Given the description of an element on the screen output the (x, y) to click on. 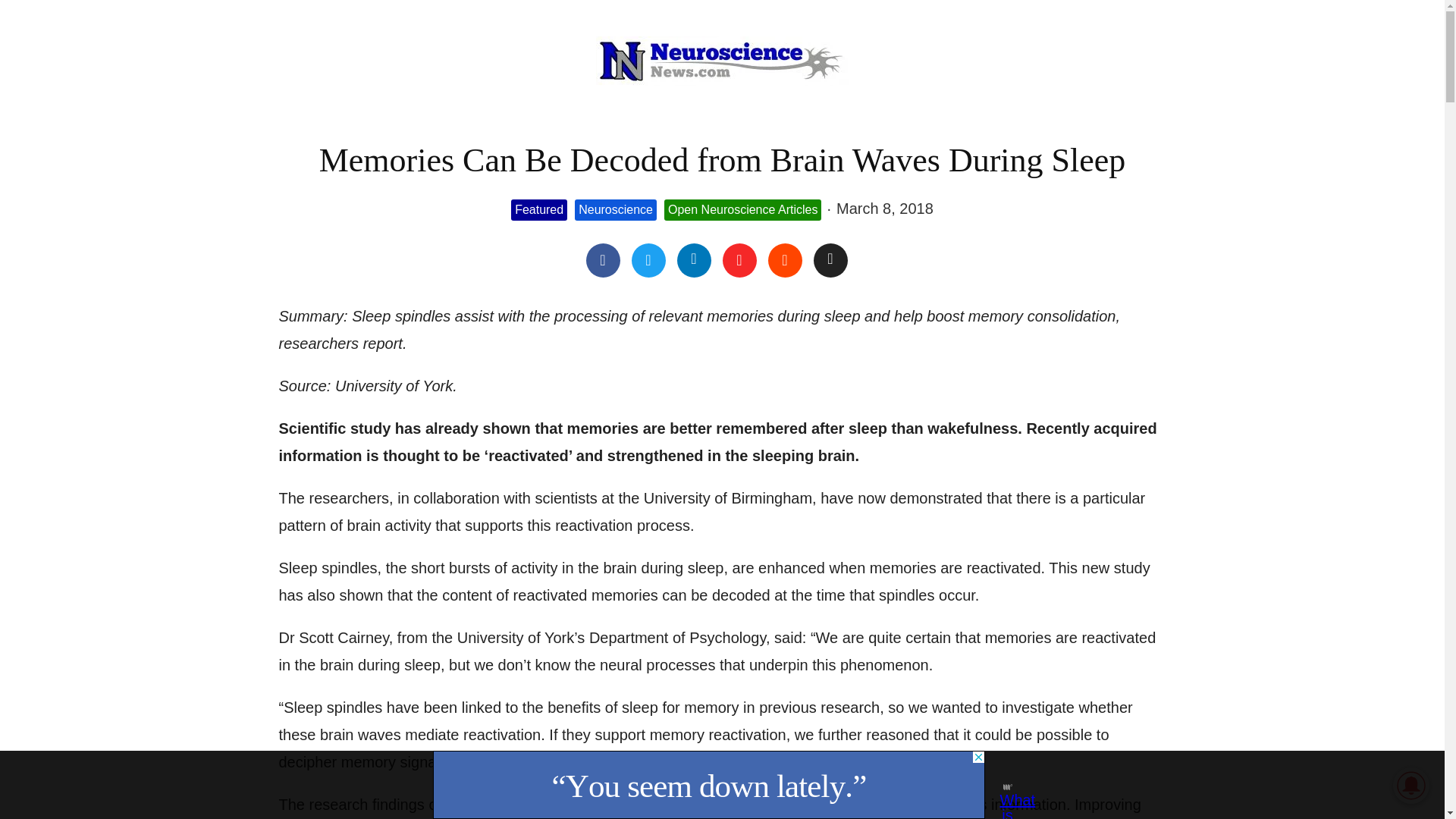
Featured (539, 210)
Neuroscience (615, 210)
Open Neuroscience Articles (742, 210)
